Given the description of an element on the screen output the (x, y) to click on. 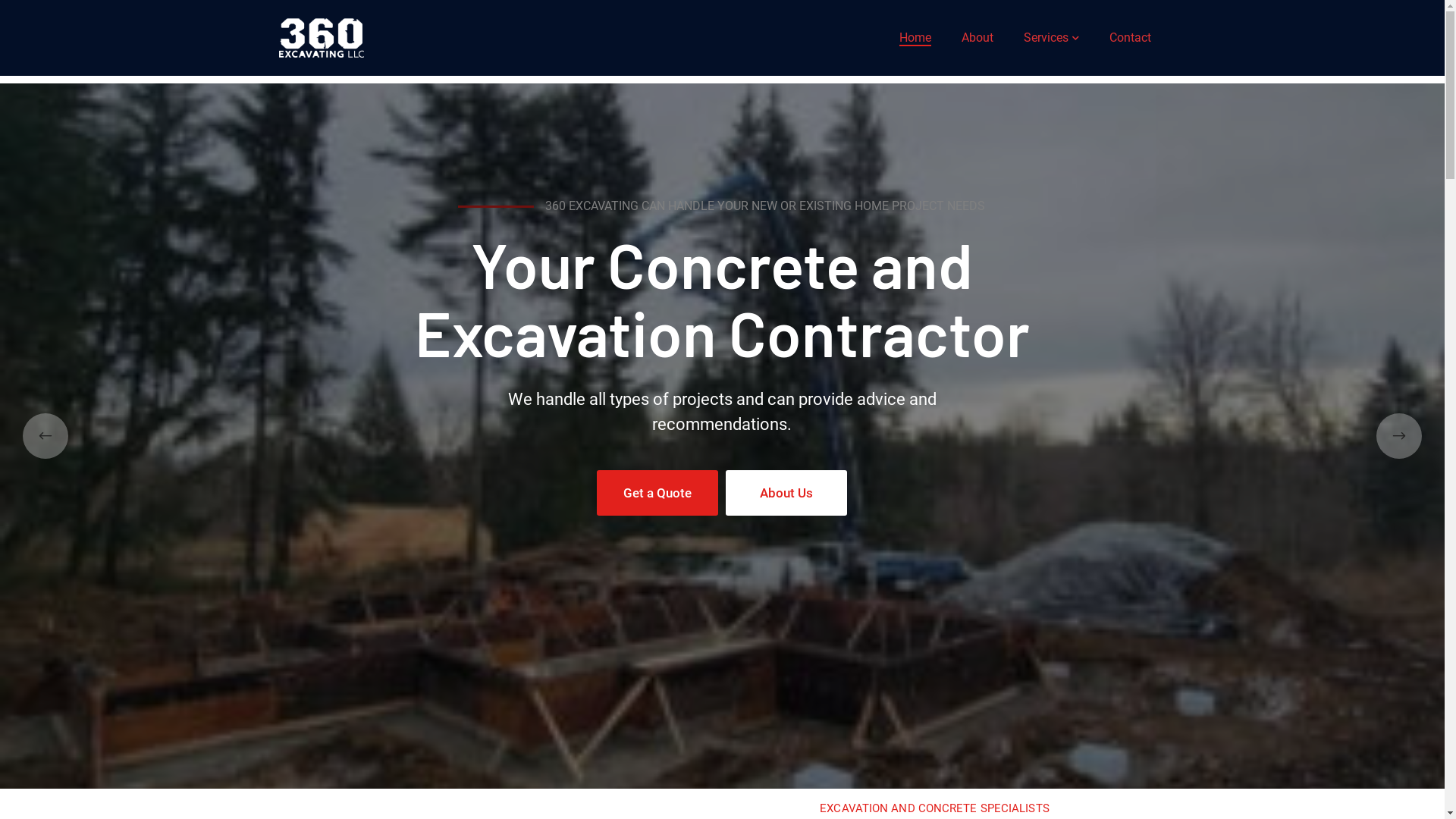
Home Element type: text (915, 37)
360 Excavating Element type: hover (321, 36)
About Element type: text (977, 37)
Services Element type: text (1051, 37)
About Us Element type: text (786, 492)
Contact Element type: text (1129, 37)
Get a Quote Element type: text (657, 492)
